Given the description of an element on the screen output the (x, y) to click on. 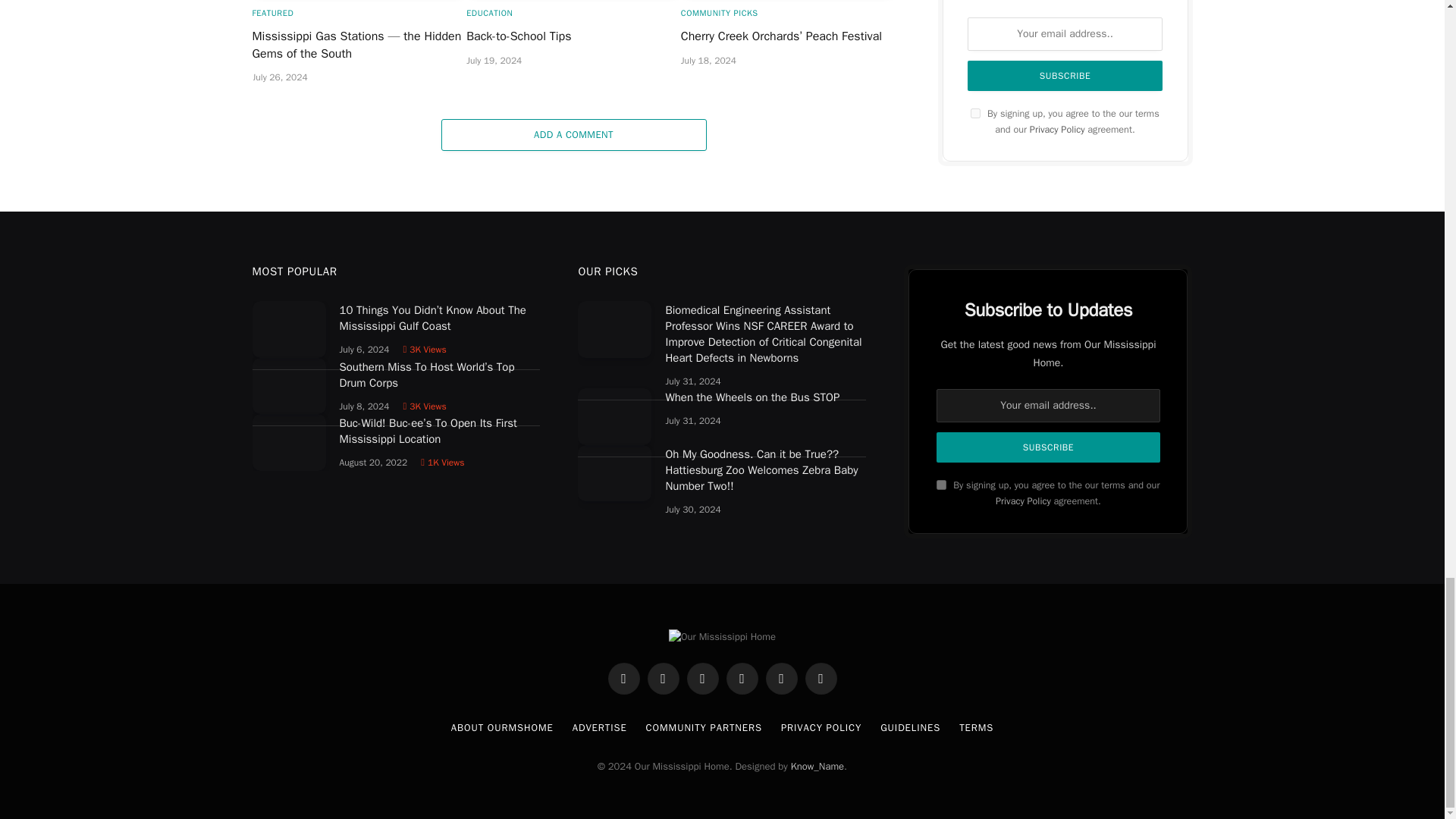
on (941, 484)
Subscribe (1047, 447)
